Given the description of an element on the screen output the (x, y) to click on. 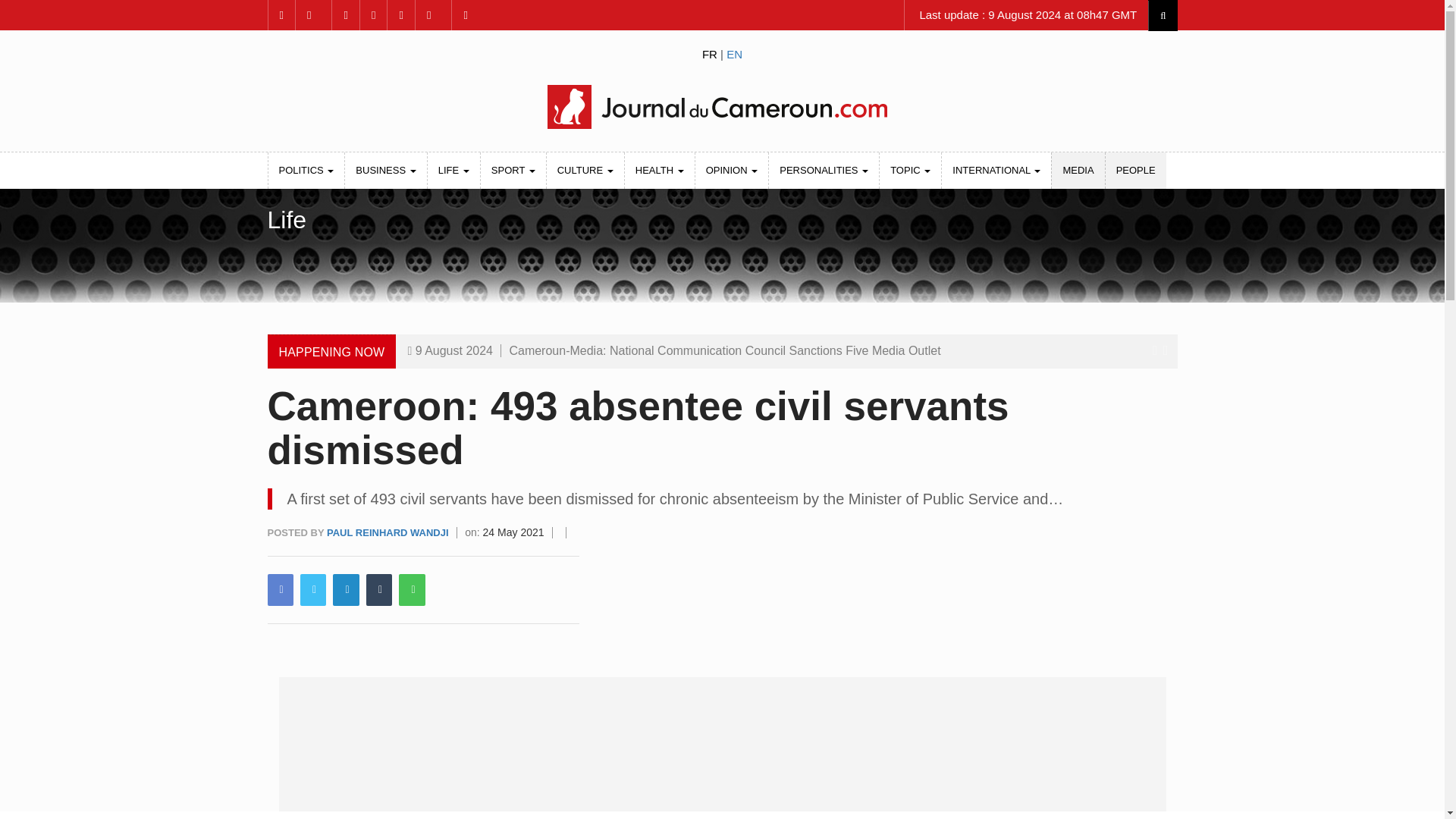
FR (709, 53)
BUSINESS (385, 170)
POLITICS (306, 170)
Last update : 9 August 2024 at 08h47 GMT (1026, 15)
JDC (721, 106)
EN (734, 53)
